Given the description of an element on the screen output the (x, y) to click on. 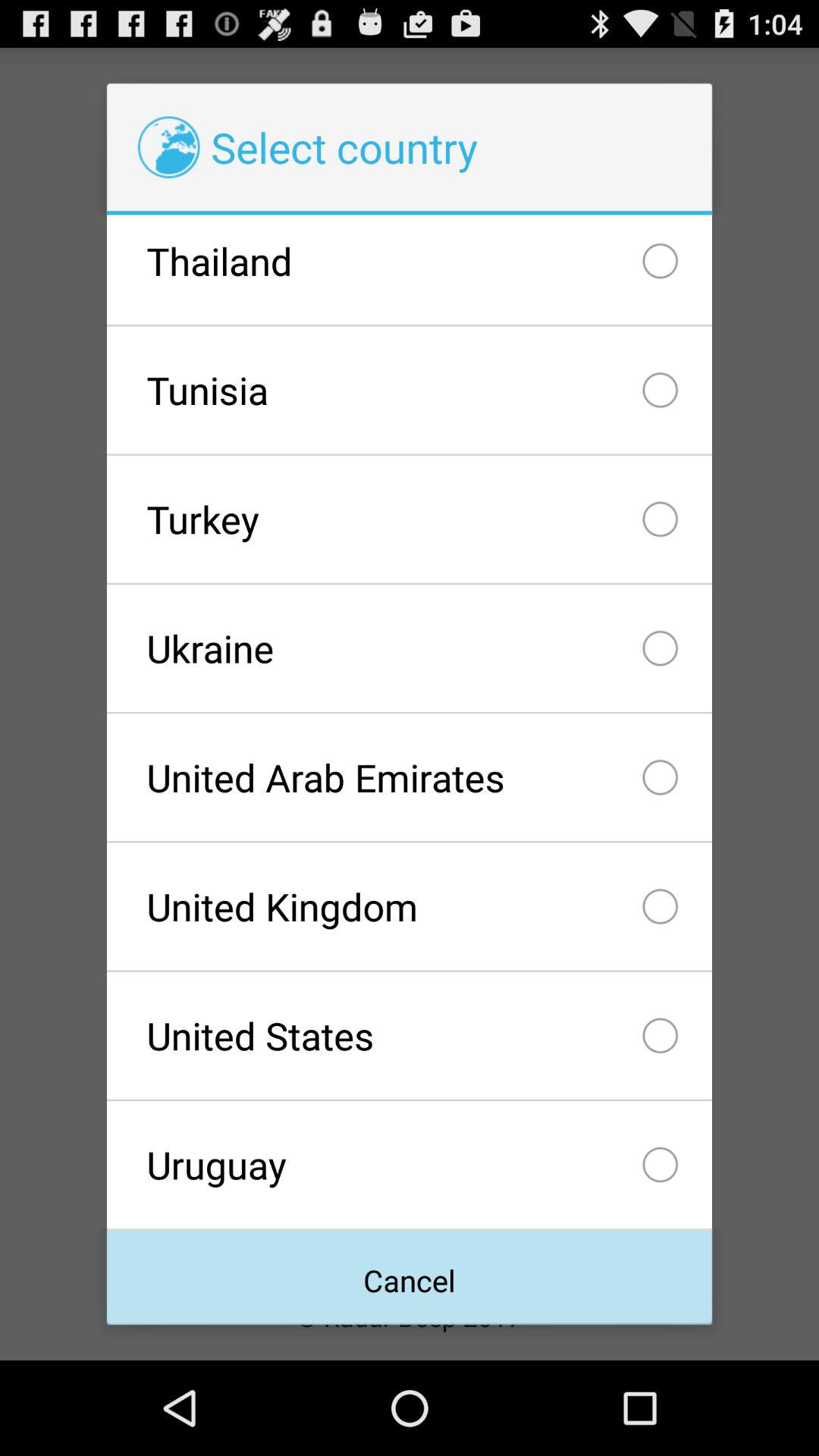
jump until thailand checkbox (409, 269)
